Given the description of an element on the screen output the (x, y) to click on. 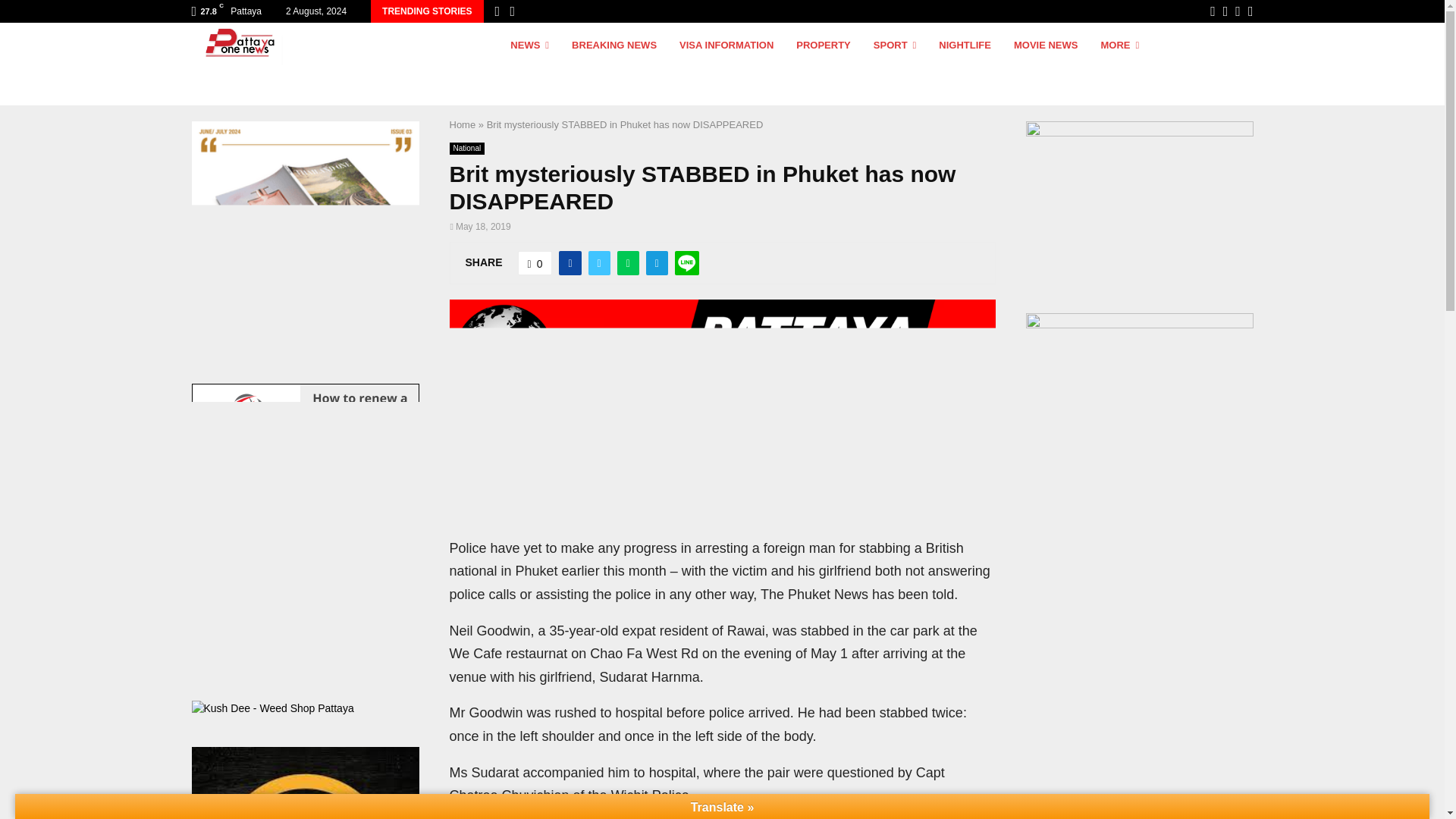
VISA INFORMATION (726, 64)
BREAKING NEWS (614, 64)
Like (535, 262)
